Given the description of an element on the screen output the (x, y) to click on. 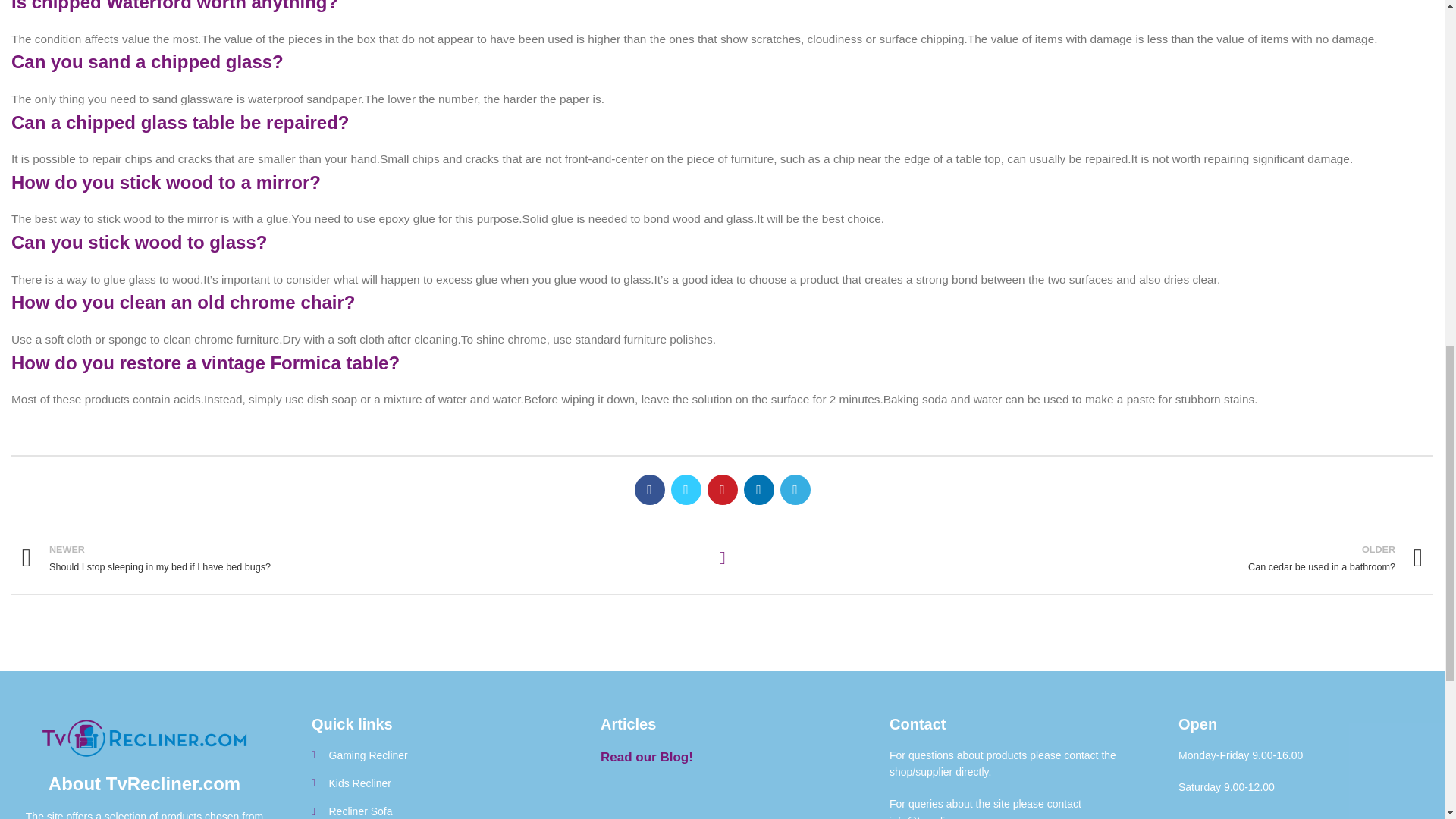
Back to list (722, 558)
Kids Recliner (432, 782)
Gaming Recliner (1082, 558)
Recliner Sofa (361, 558)
